Given the description of an element on the screen output the (x, y) to click on. 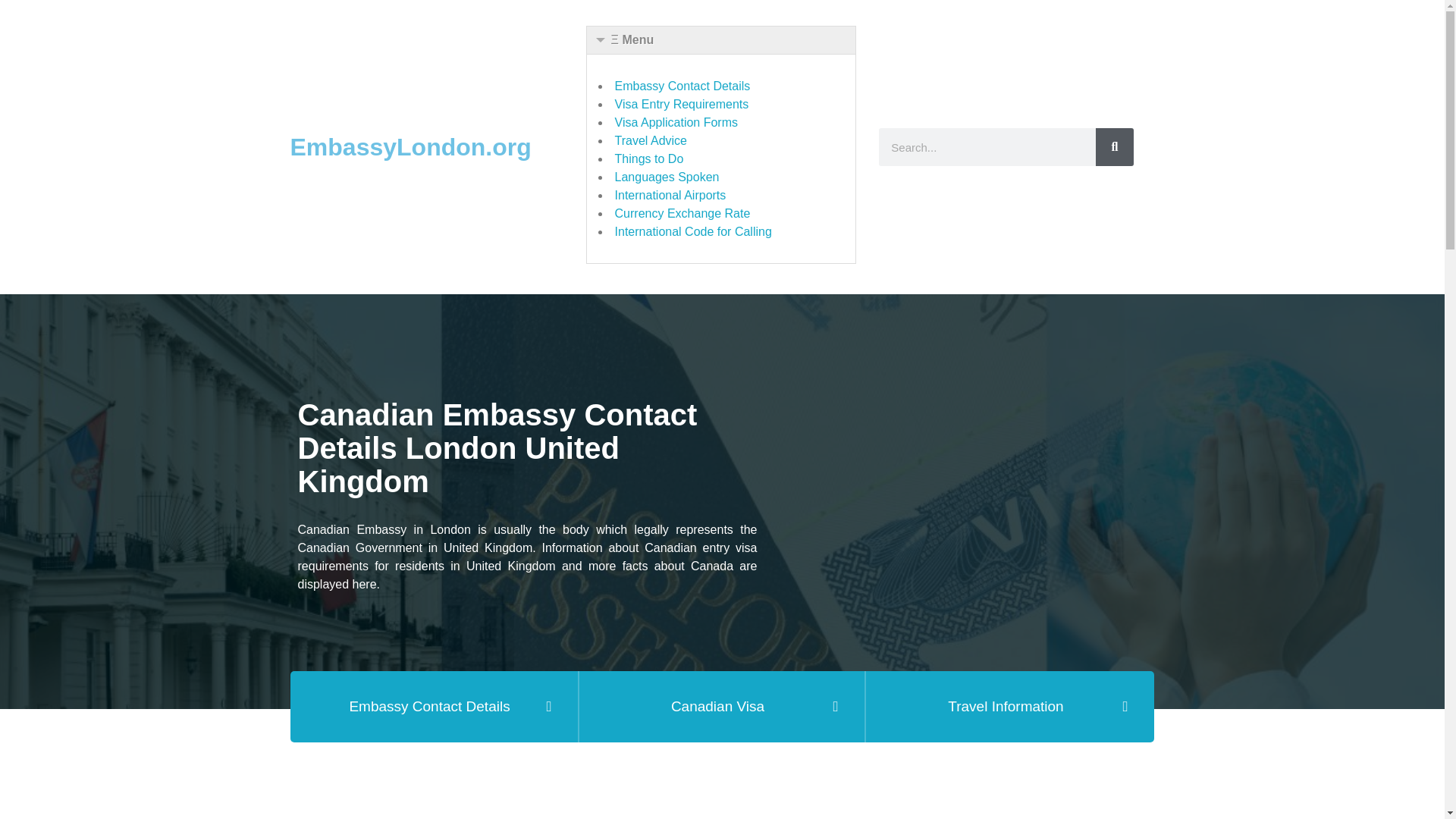
Travel Advice (650, 140)
Visa Entry Requirements (681, 103)
International Code for Calling (692, 231)
Travel Information (1009, 706)
Canadian Visa (721, 706)
Languages Spoken (666, 176)
Currency Exchange Rate (682, 213)
Embassy Contact Details (682, 85)
Things to Do (649, 158)
Embassy Contact Details (433, 706)
Visa Application Forms (676, 122)
International Airports (670, 195)
